Given the description of an element on the screen output the (x, y) to click on. 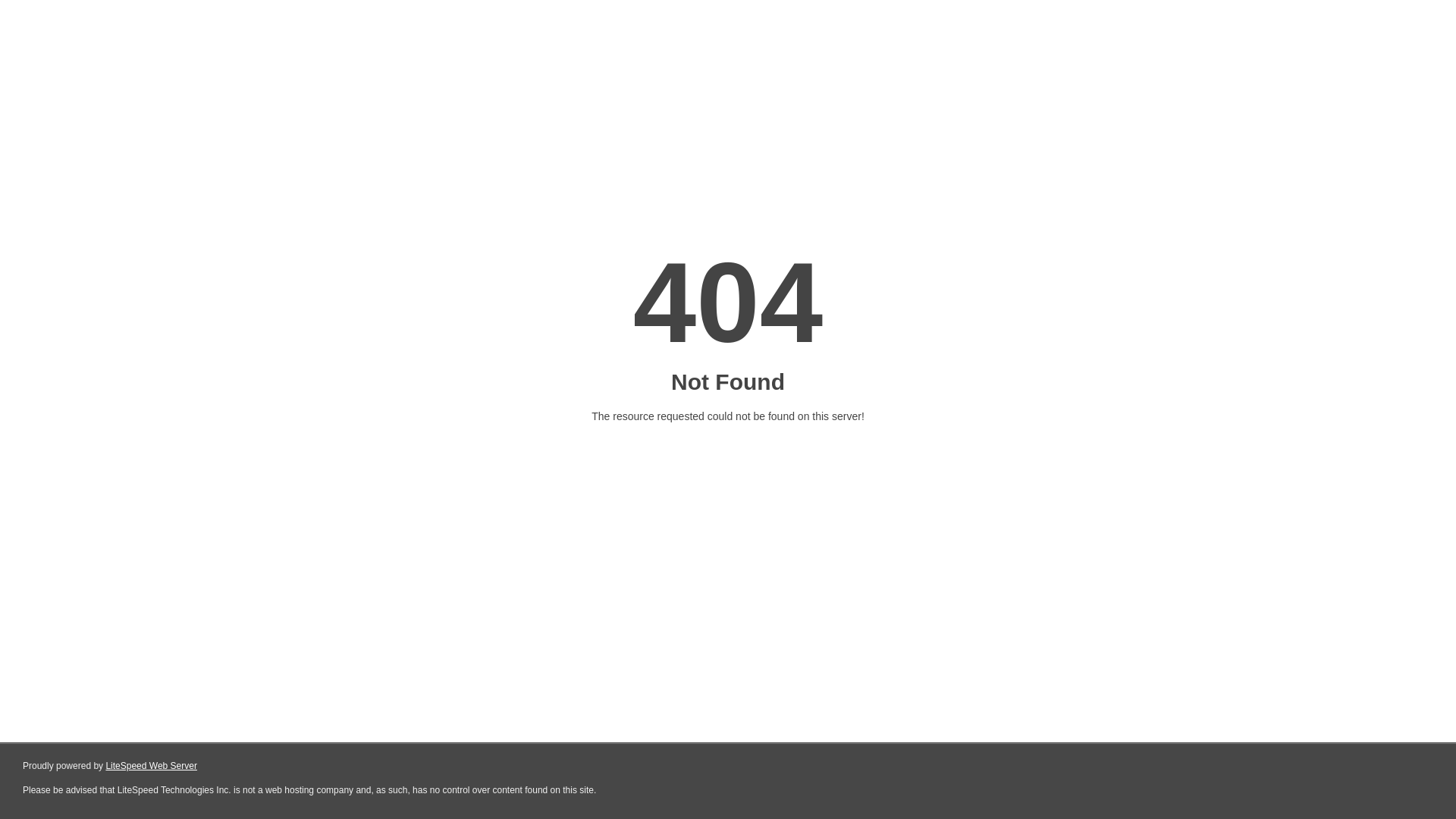
LiteSpeed Web Server Element type: text (151, 765)
